Given the description of an element on the screen output the (x, y) to click on. 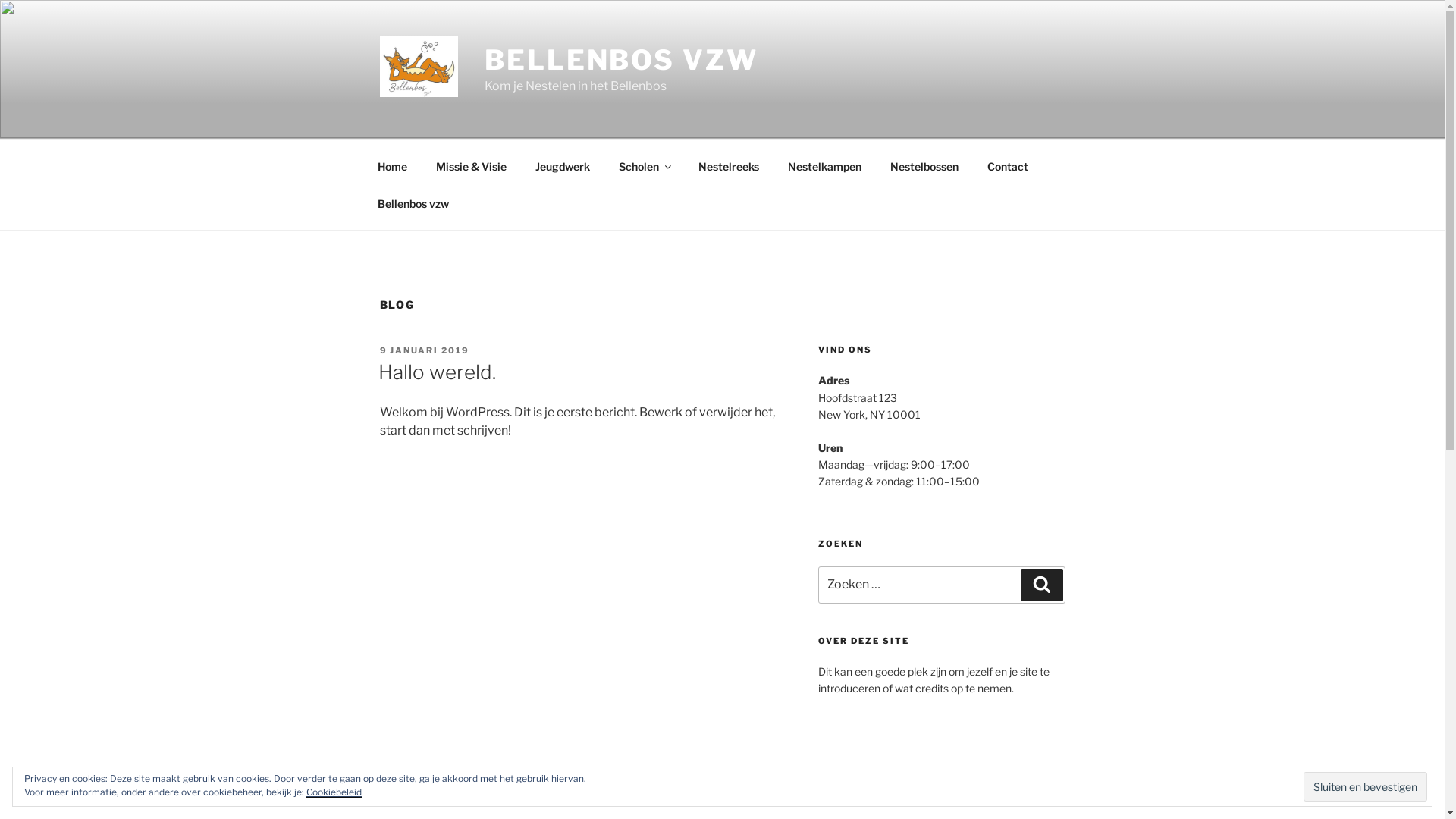
Nestelkampen Element type: text (825, 165)
9 JANUARI 2019 Element type: text (424, 350)
Zoeken Element type: text (1041, 584)
Bellenbos vzw Element type: text (412, 203)
BELLENBOS VZW Element type: text (620, 59)
Home Element type: text (392, 165)
Hallo wereld. Element type: text (436, 371)
Missie & Visie Element type: text (471, 165)
Jeugdwerk Element type: text (561, 165)
Nestelreeks Element type: text (728, 165)
Nestelbossen Element type: text (923, 165)
Scholen Element type: text (643, 165)
Cookiebeleid Element type: text (333, 791)
Contact Element type: text (1007, 165)
Sluiten en bevestigen Element type: text (1365, 786)
